Given the description of an element on the screen output the (x, y) to click on. 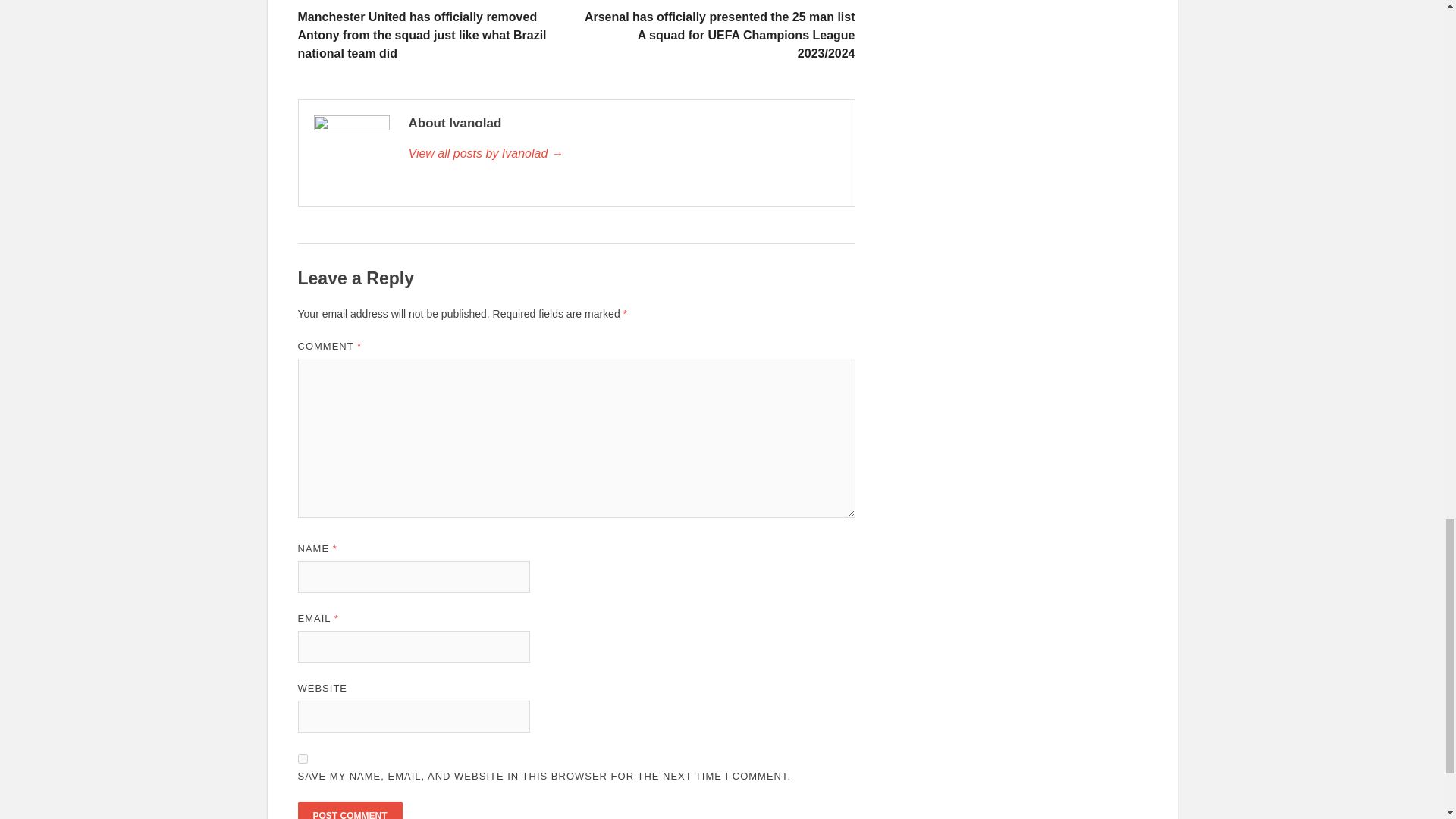
Post Comment (349, 810)
yes (302, 758)
Ivanolad (622, 153)
